Given the description of an element on the screen output the (x, y) to click on. 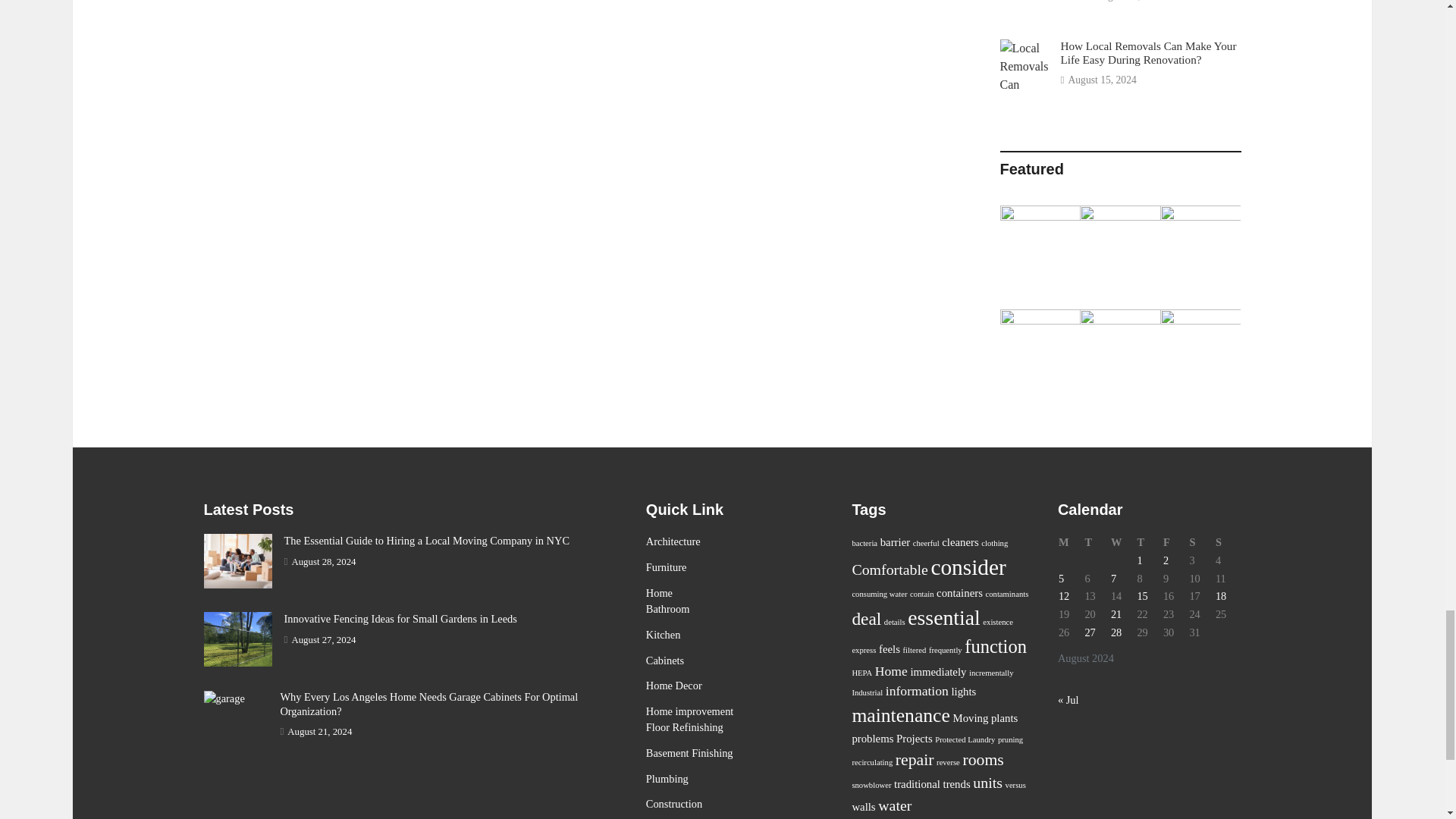
Friday (1175, 542)
Thursday (1148, 542)
Sunday (1227, 542)
Tuesday (1096, 542)
Monday (1071, 542)
Saturday (1201, 542)
Wednesday (1123, 542)
